Given the description of an element on the screen output the (x, y) to click on. 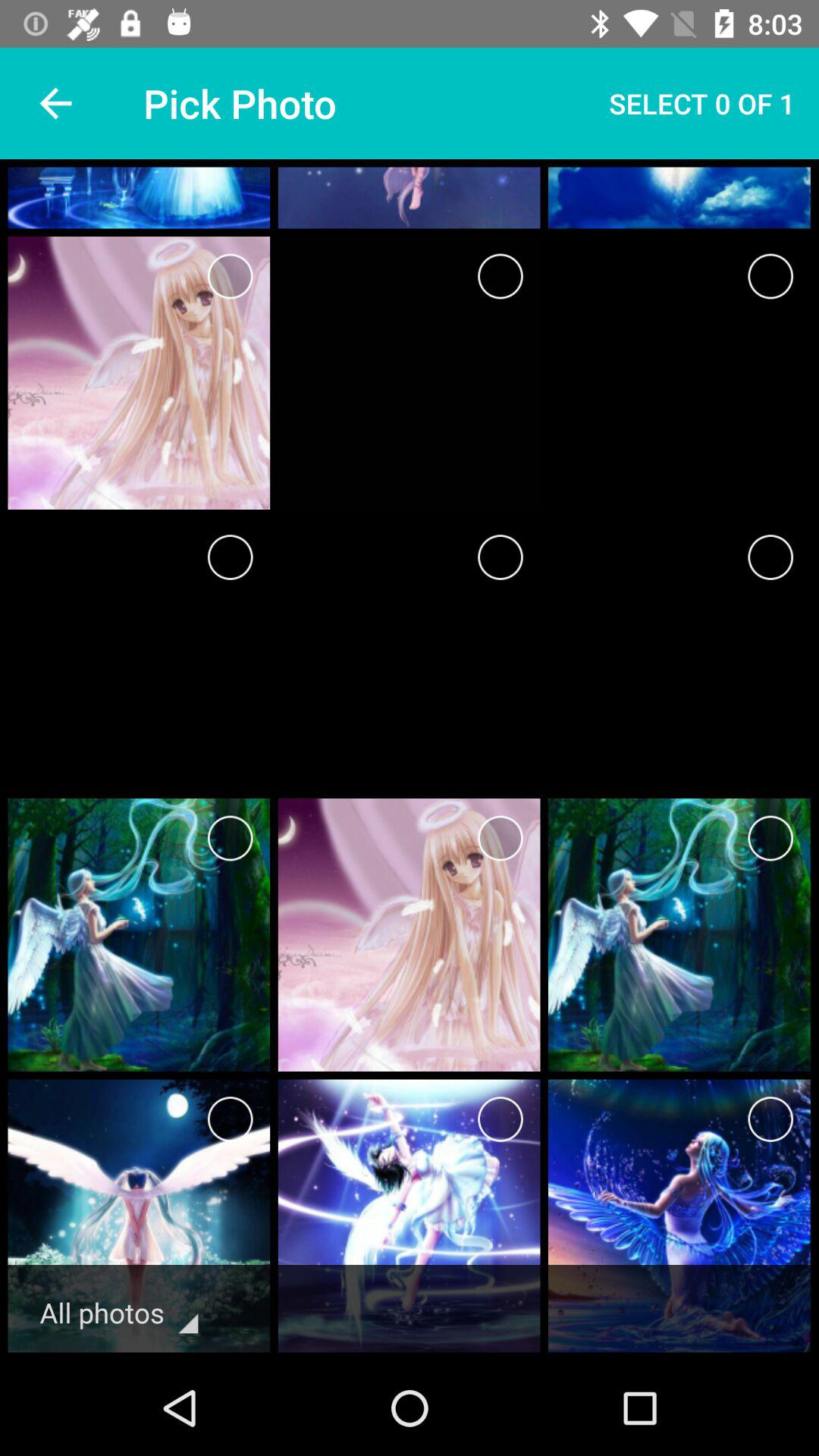
select button (230, 1119)
